Given the description of an element on the screen output the (x, y) to click on. 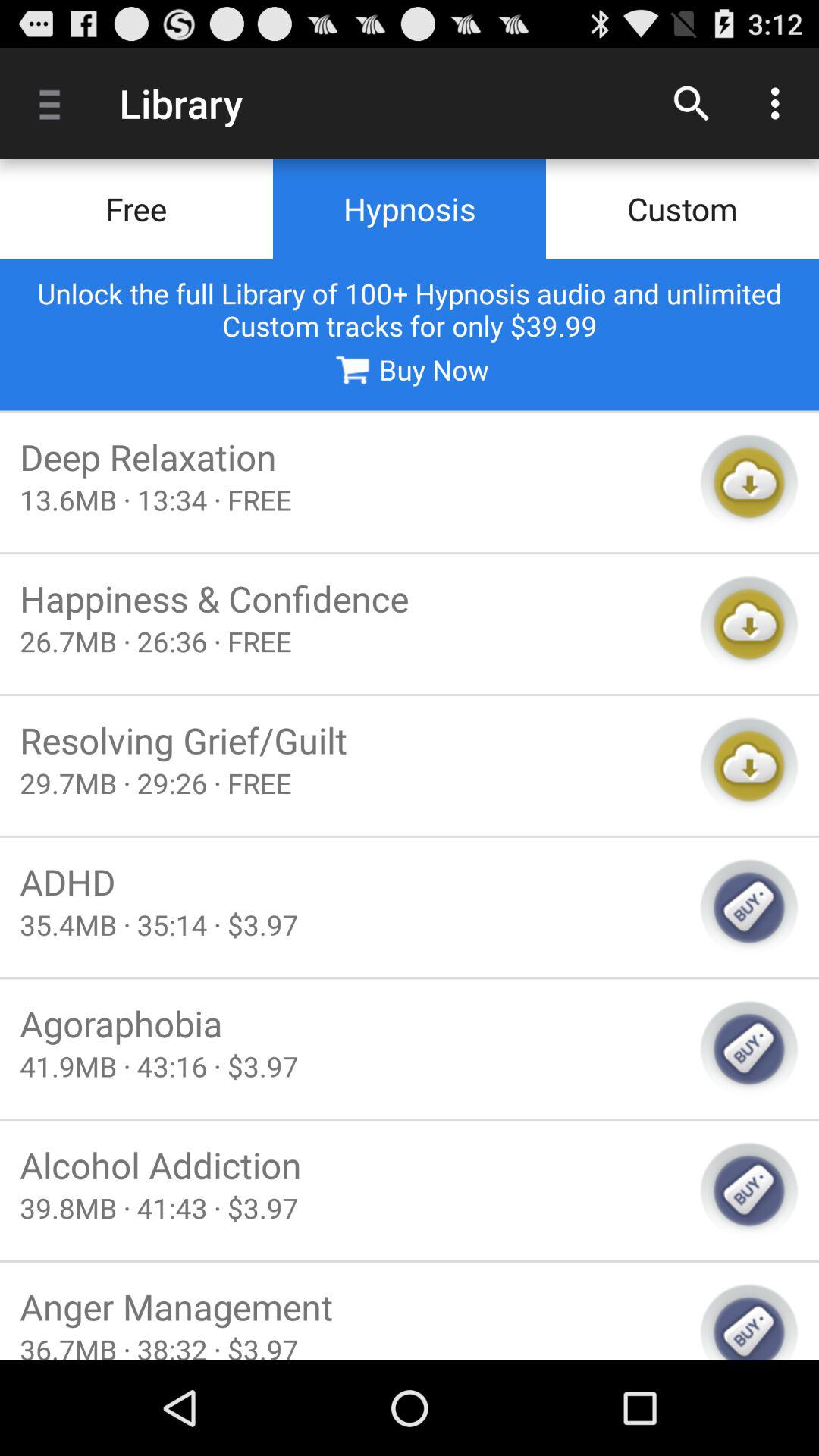
tap the item below 13 6mb 13 (349, 598)
